Given the description of an element on the screen output the (x, y) to click on. 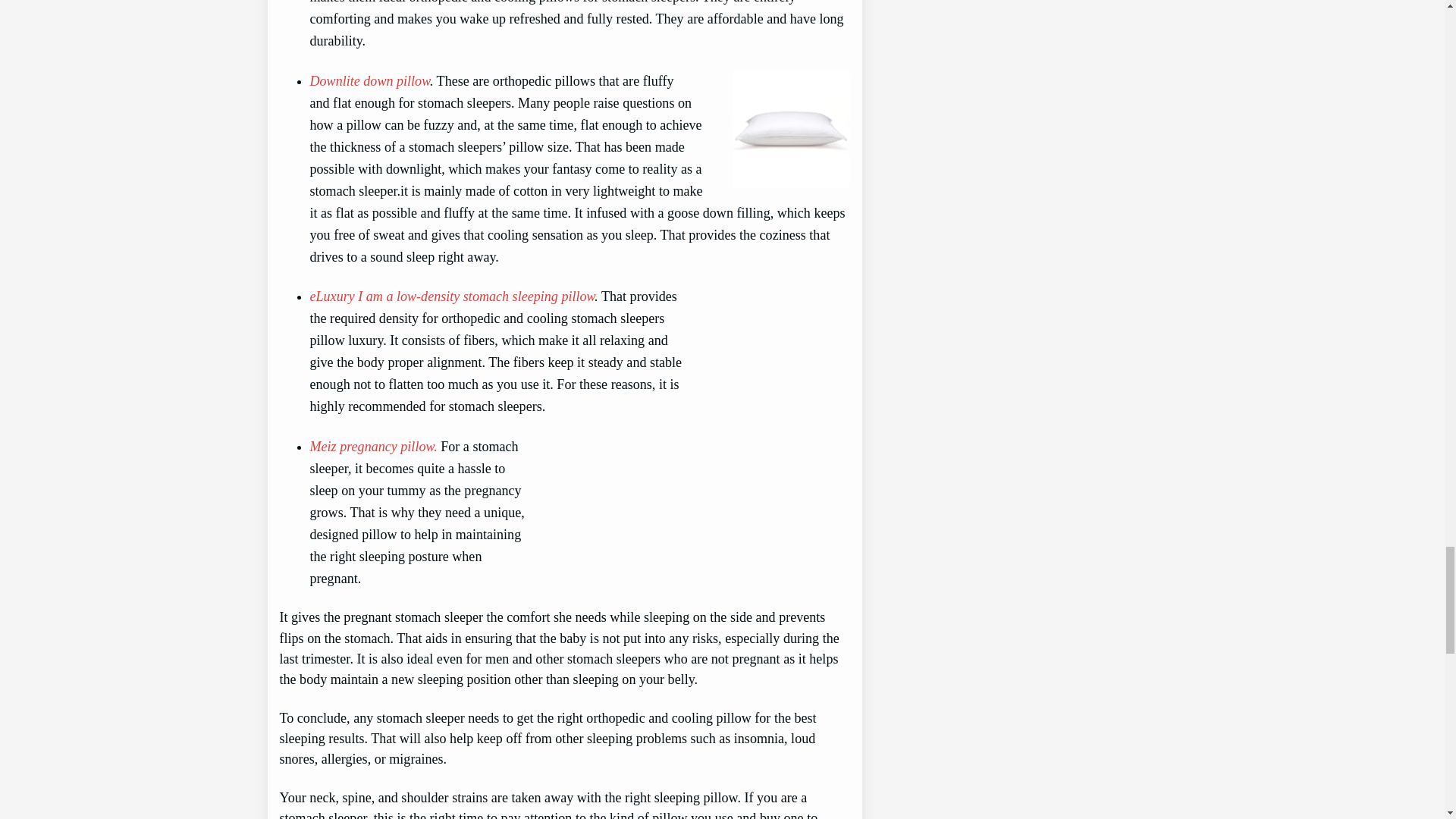
eLuxury I am a low-density stomach sleeping pillow (451, 296)
Downlite down pillow (368, 80)
